Given the description of an element on the screen output the (x, y) to click on. 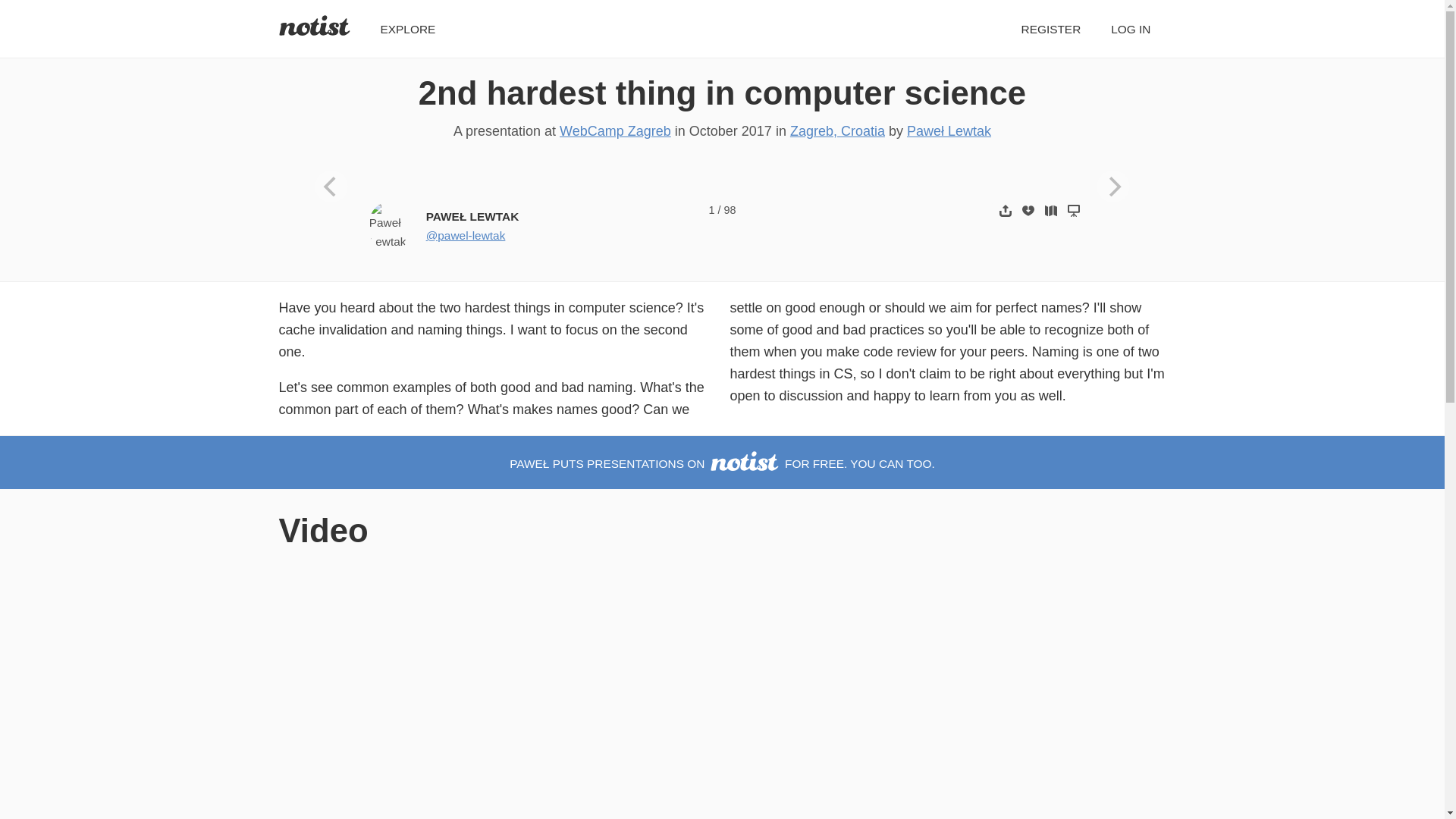
EXPLORE (407, 29)
Share (1005, 210)
REGISTER (1050, 29)
Number of slides in slidedeck (729, 209)
2nd hardest thing in computer science (722, 92)
Enter presentation mode (1073, 210)
View all slides (1050, 210)
Download slidedeck (1027, 210)
WebCamp Zagreb (615, 130)
Zagreb, Croatia (837, 130)
LOG IN (1130, 29)
